Given the description of an element on the screen output the (x, y) to click on. 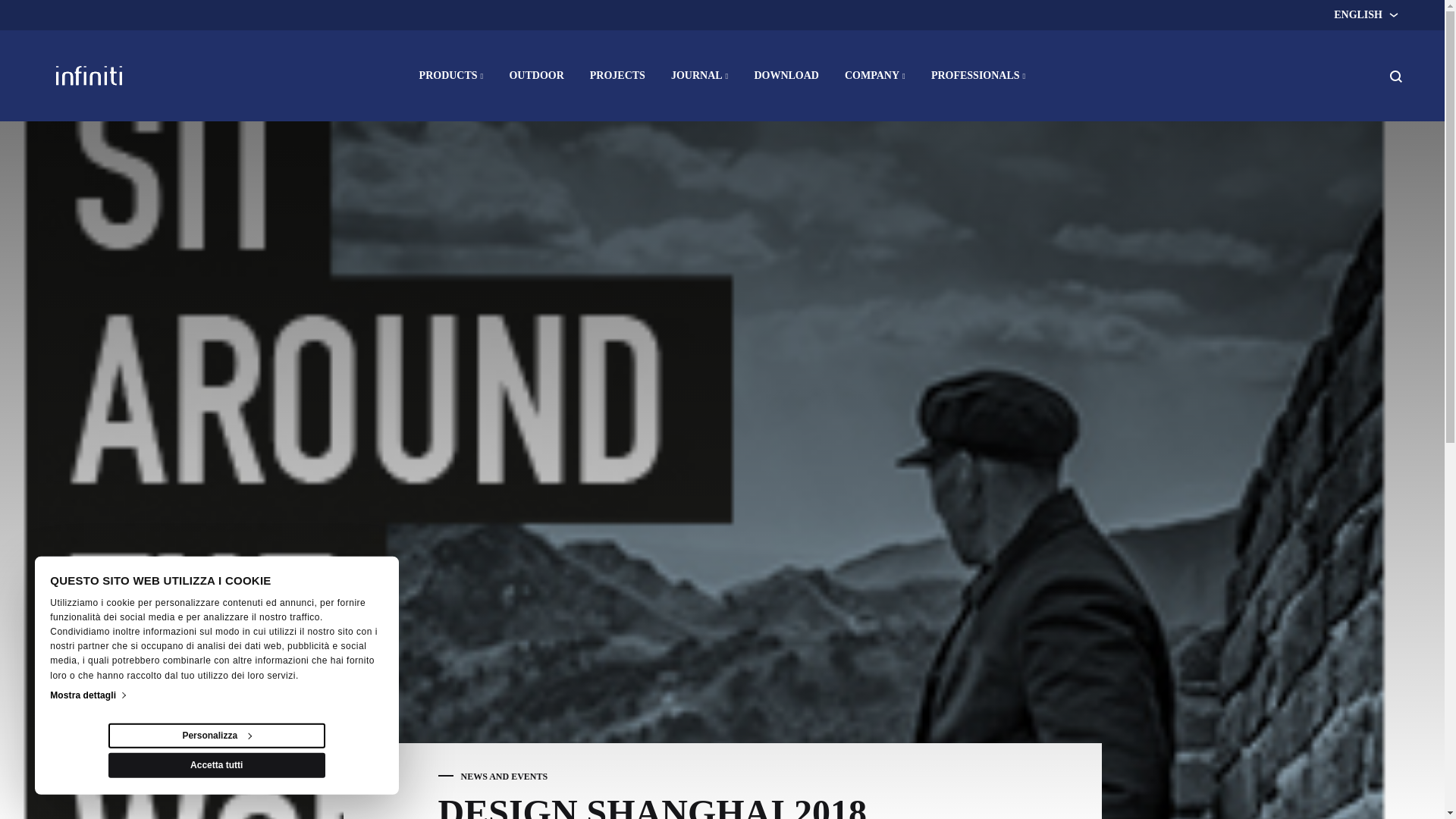
Mostra dettagli (86, 695)
